Given the description of an element on the screen output the (x, y) to click on. 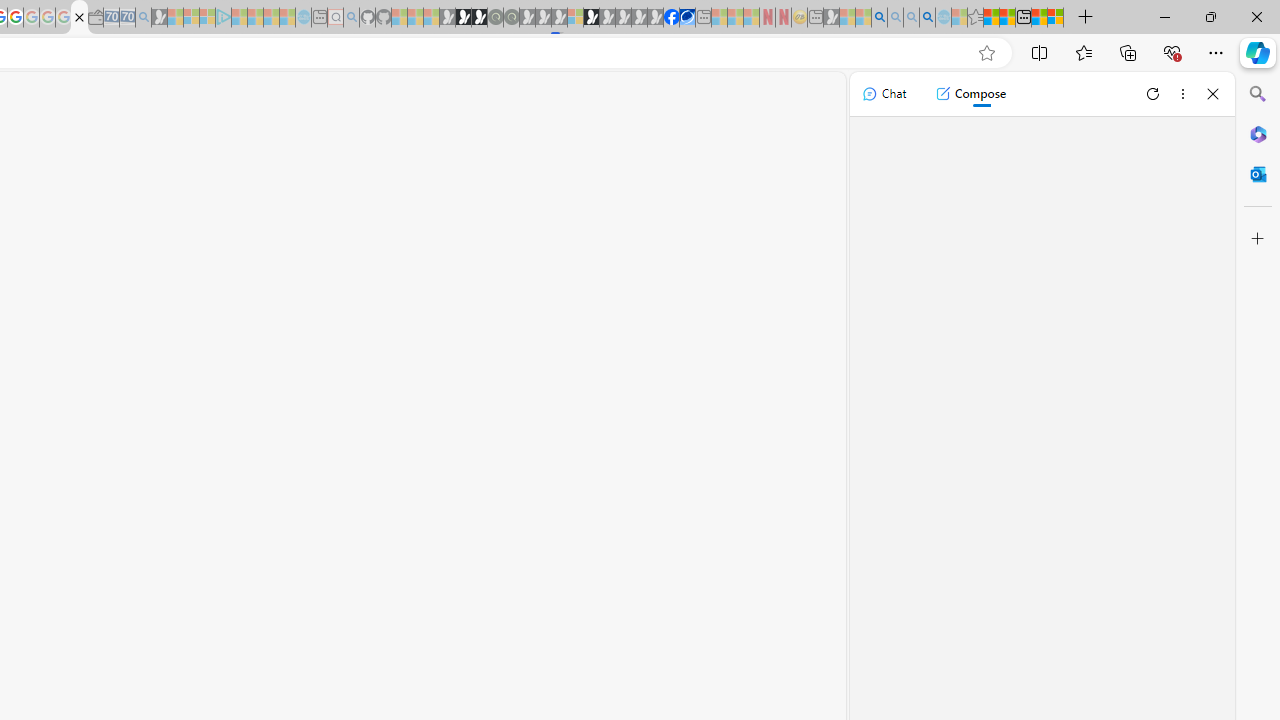
MSN - Sleeping (831, 17)
